Given the description of an element on the screen output the (x, y) to click on. 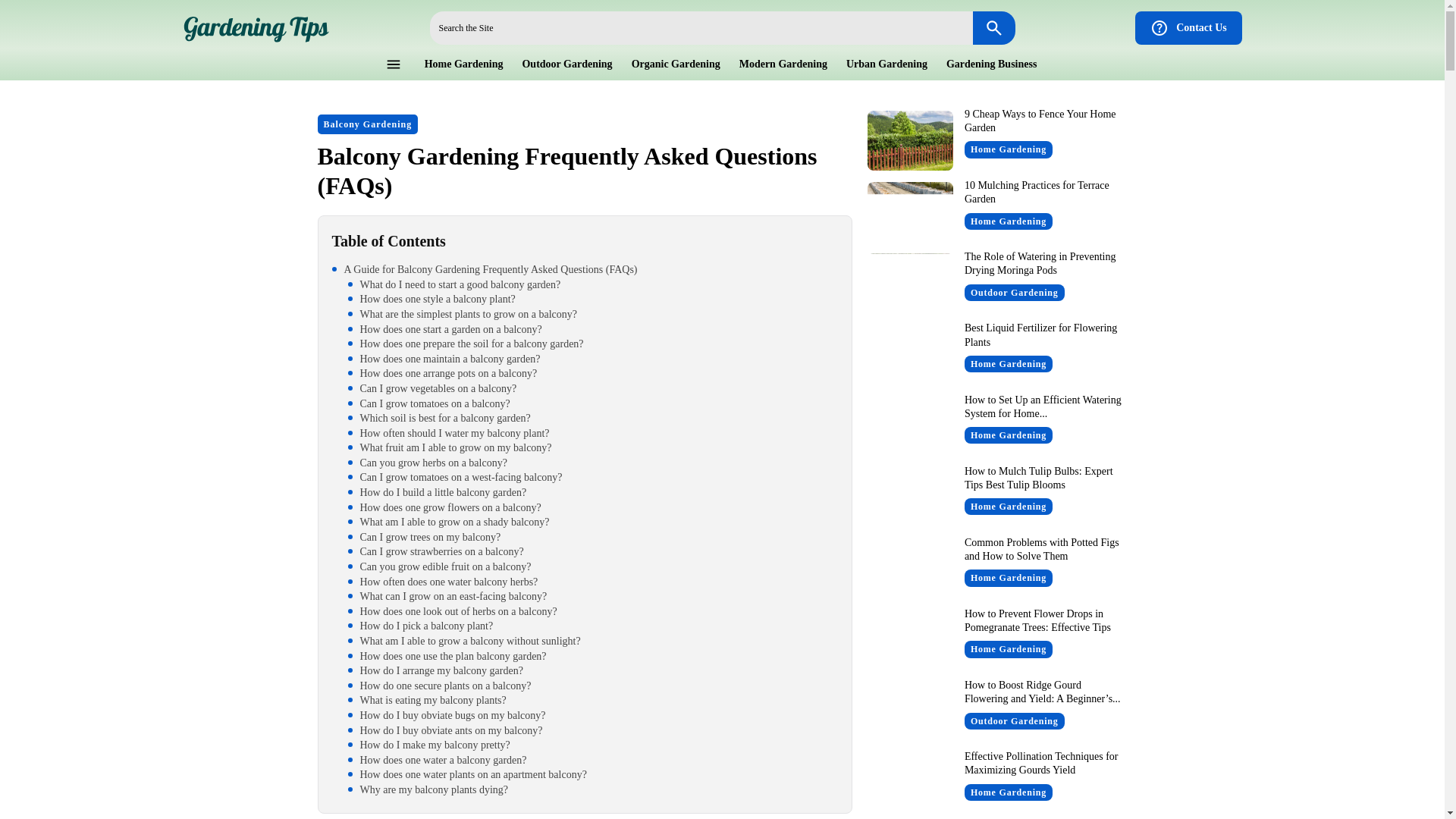
Best Liquid Fertilizer for Flowering Plants (1039, 334)
9 Cheap Ways to Fence Your Home Garden (1039, 120)
Contact Us (1188, 28)
Contact Us (1188, 28)
Best Liquid Fertilizer for Flowering Plants (910, 354)
10 Mulching Practices for Terrace Garden (1036, 191)
The Role of Watering in Preventing Drying Moringa Pods (910, 282)
How to Set Up an Efficient Watering System for Home Garden (910, 426)
9 Cheap Ways to Fence Your Home Garden (910, 140)
The Role of Watering in Preventing Drying Moringa Pods (1039, 263)
10 Mulching Practices for Terrace Garden (910, 211)
